Given the description of an element on the screen output the (x, y) to click on. 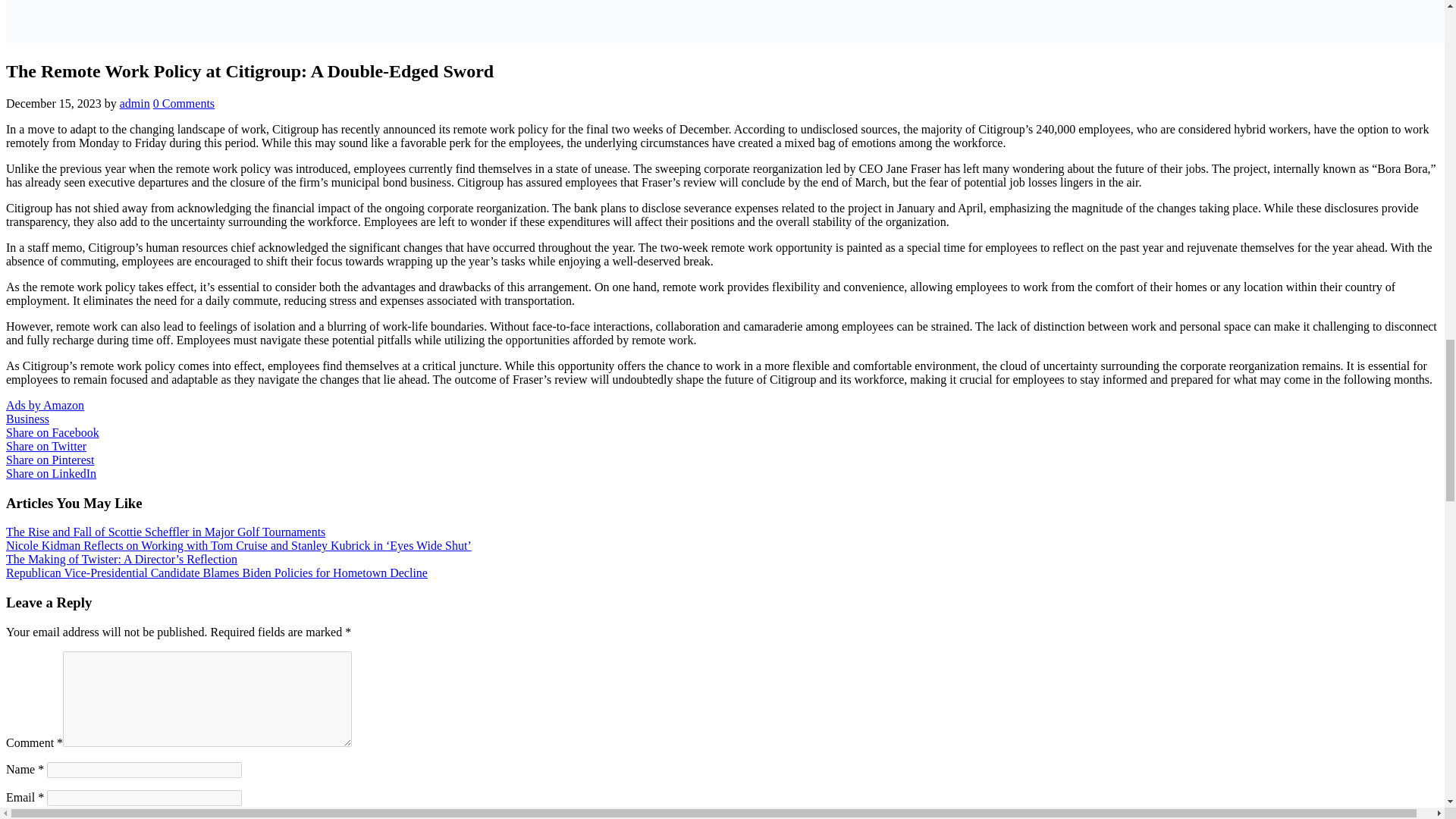
Business (27, 418)
